Given the description of an element on the screen output the (x, y) to click on. 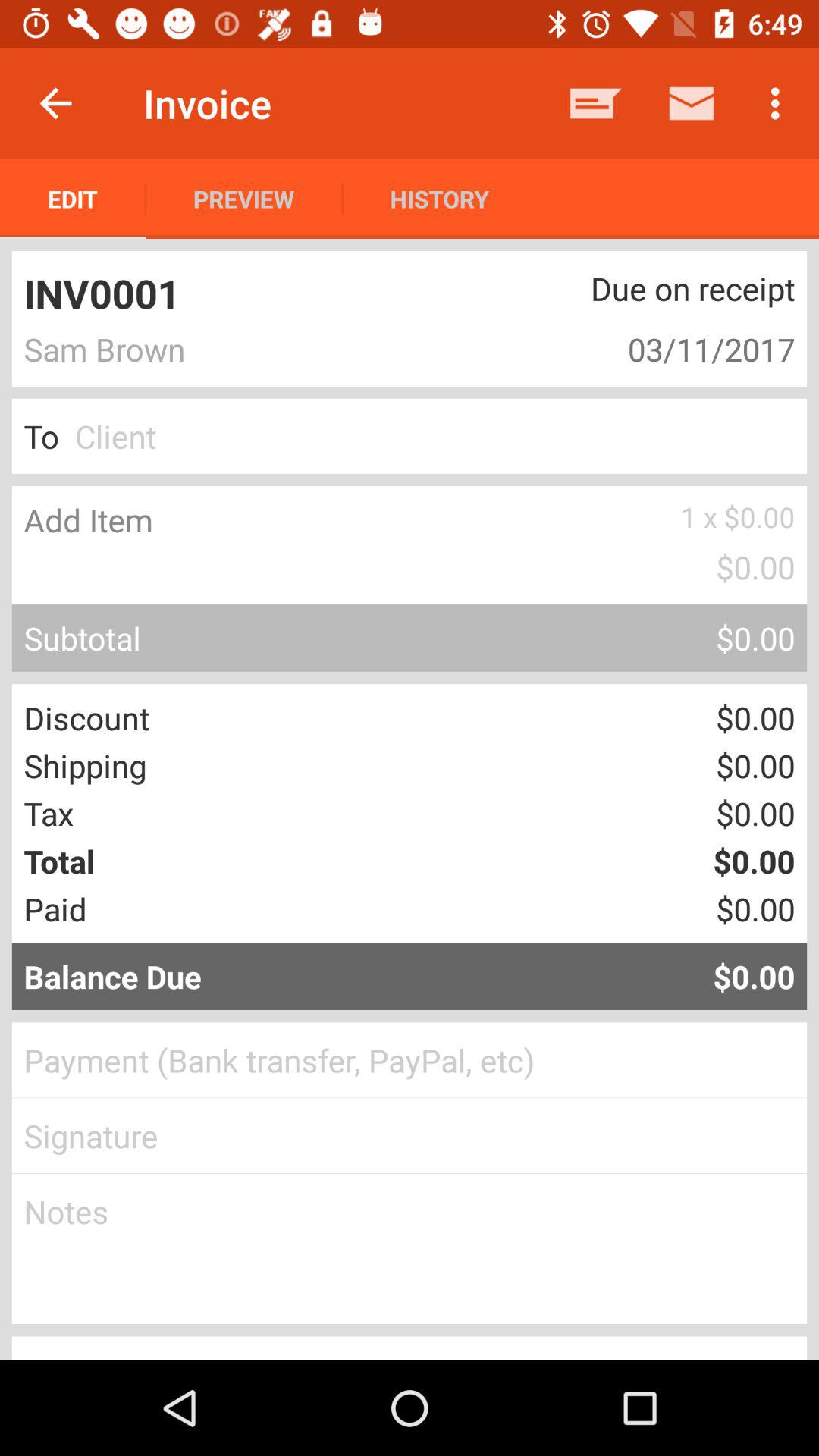
enter notes (409, 1248)
